Given the description of an element on the screen output the (x, y) to click on. 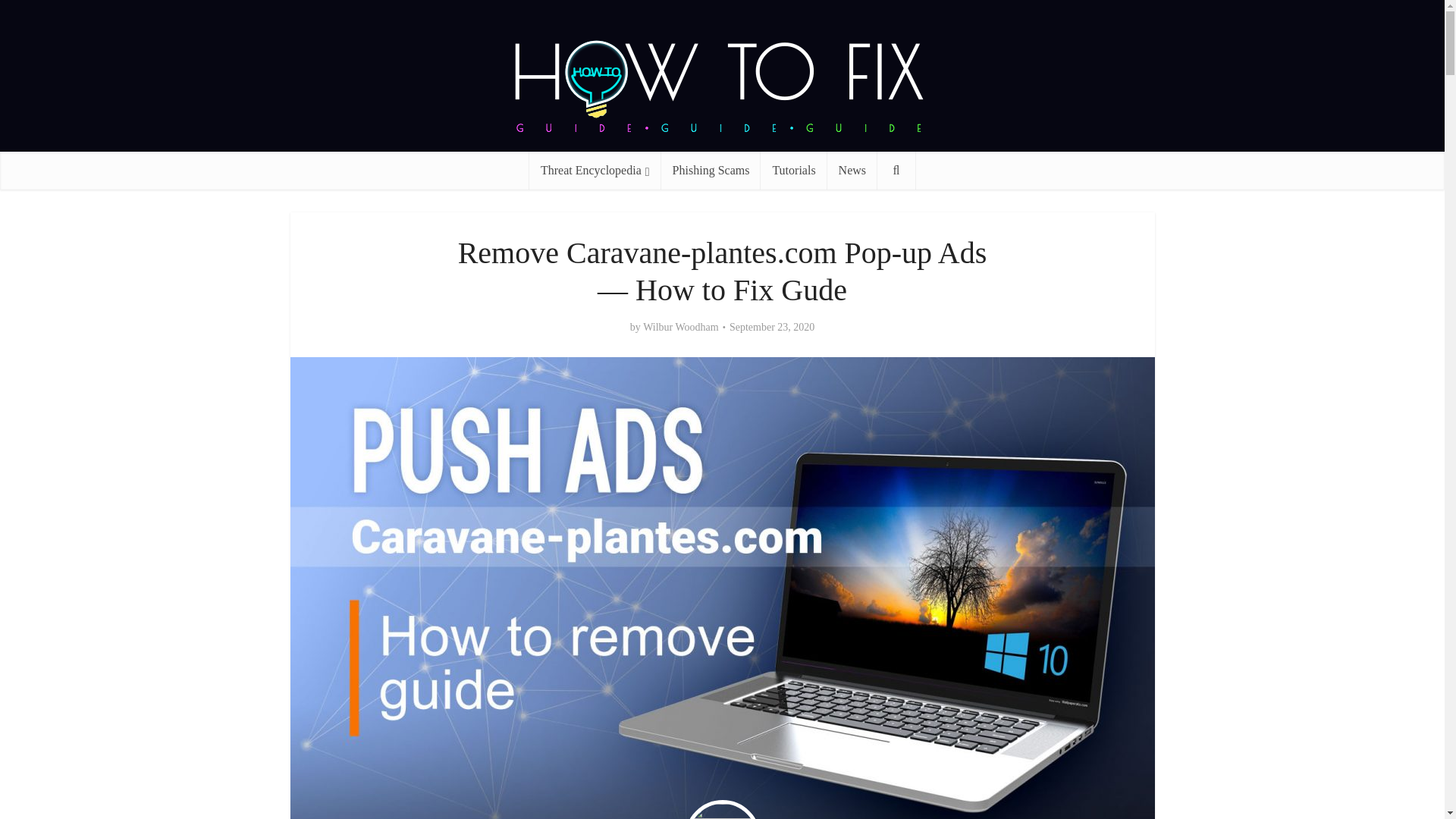
Wilbur Woodham (681, 327)
Tutorials (793, 170)
Threat Encyclopedia (595, 170)
Phishing Scams (711, 170)
News (852, 170)
